Given the description of an element on the screen output the (x, y) to click on. 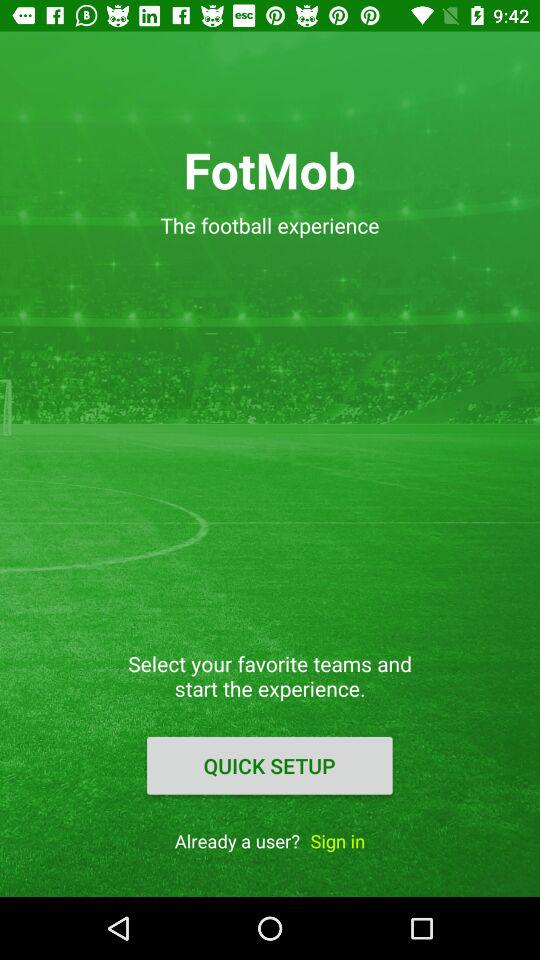
turn on sign in icon (337, 840)
